Given the description of an element on the screen output the (x, y) to click on. 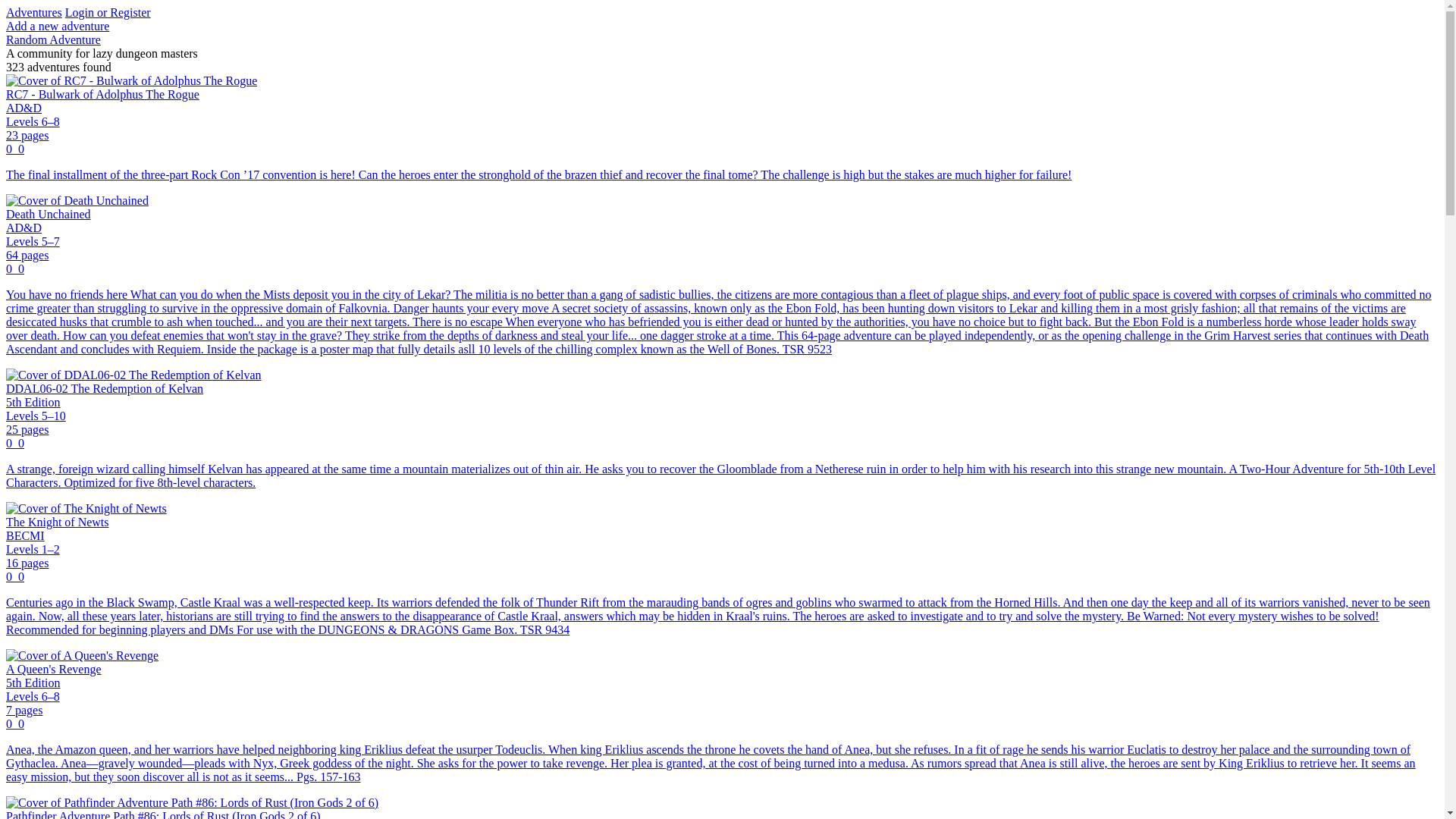
Adventures (33, 11)
Login or Register (108, 11)
Random Adventure (52, 39)
Add a new adventure (57, 25)
